Given the description of an element on the screen output the (x, y) to click on. 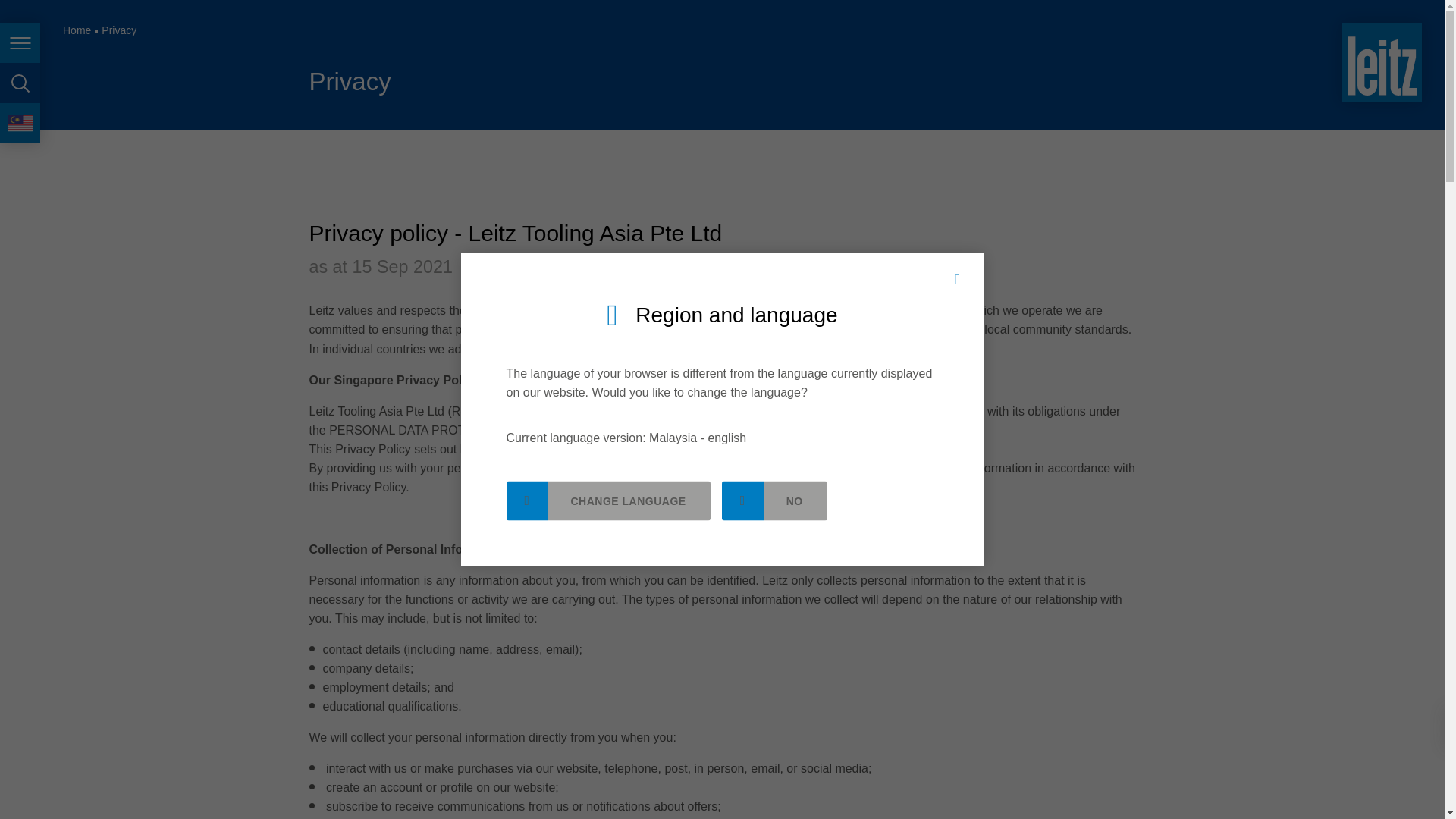
page search (20, 83)
Page navigation (20, 42)
language (20, 123)
language (20, 123)
page search (20, 83)
Page navigation (20, 42)
